Given the description of an element on the screen output the (x, y) to click on. 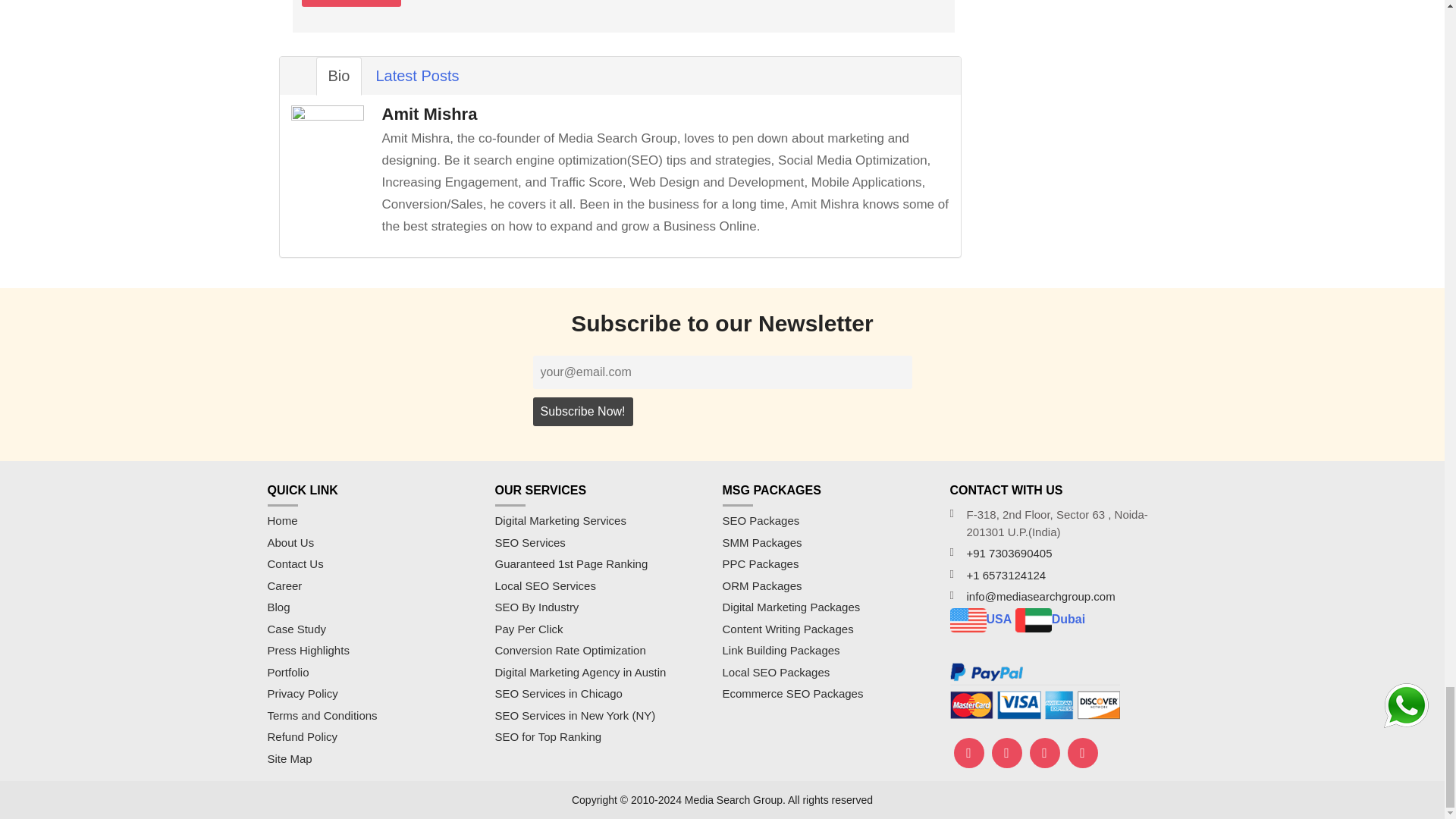
Post Comment (351, 3)
Subscribe Now! (581, 411)
